Given the description of an element on the screen output the (x, y) to click on. 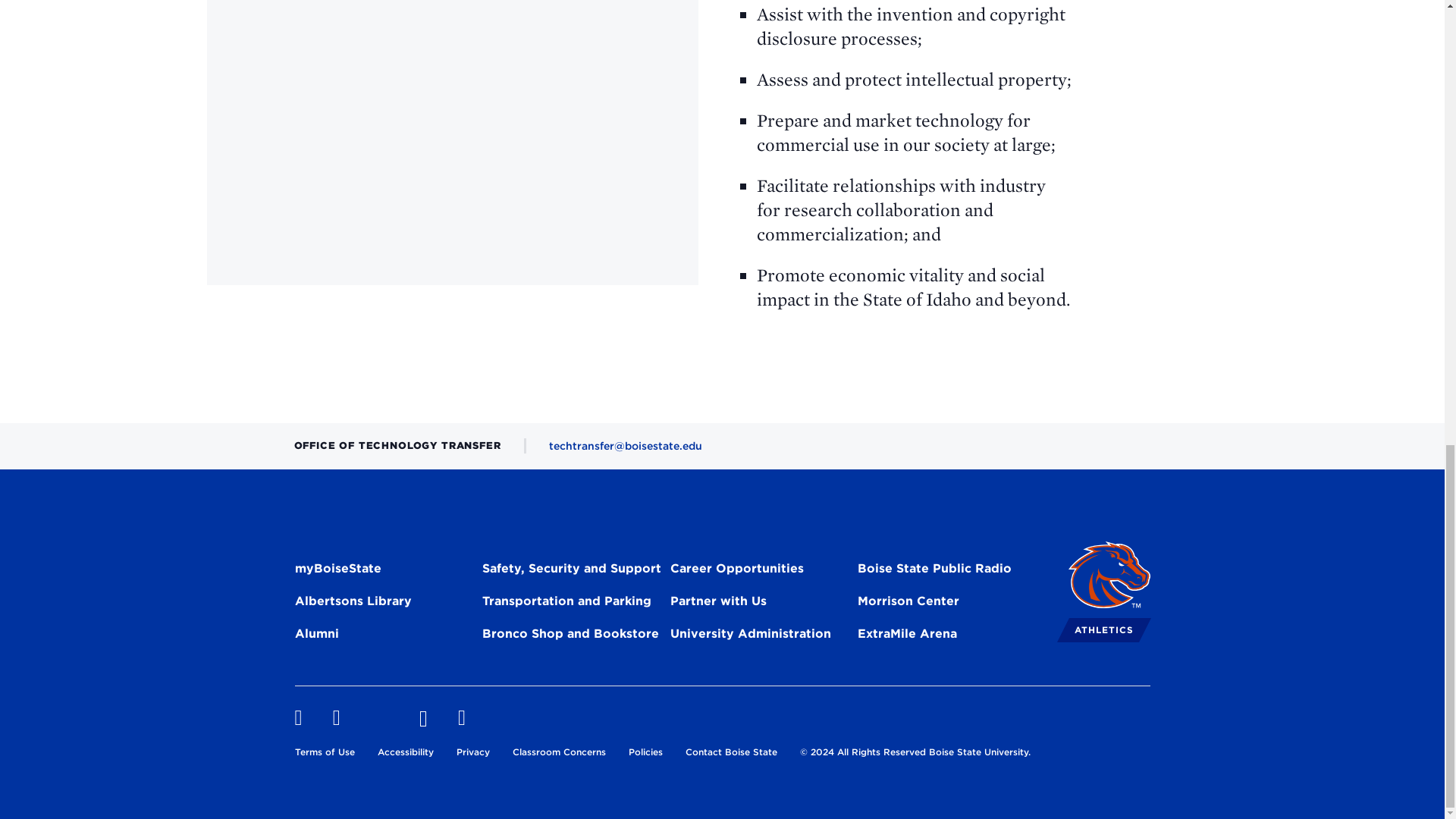
Albertsons Library (352, 603)
Career Opportunities (736, 570)
Bronco Shop and Bookstore (570, 636)
Partner with Us (718, 603)
Boise State Public Radio (934, 570)
University Administration (750, 636)
Follow us on X (379, 718)
Transportation and Parking (565, 603)
Morrison Center (908, 603)
myBoiseState (337, 570)
